Given the description of an element on the screen output the (x, y) to click on. 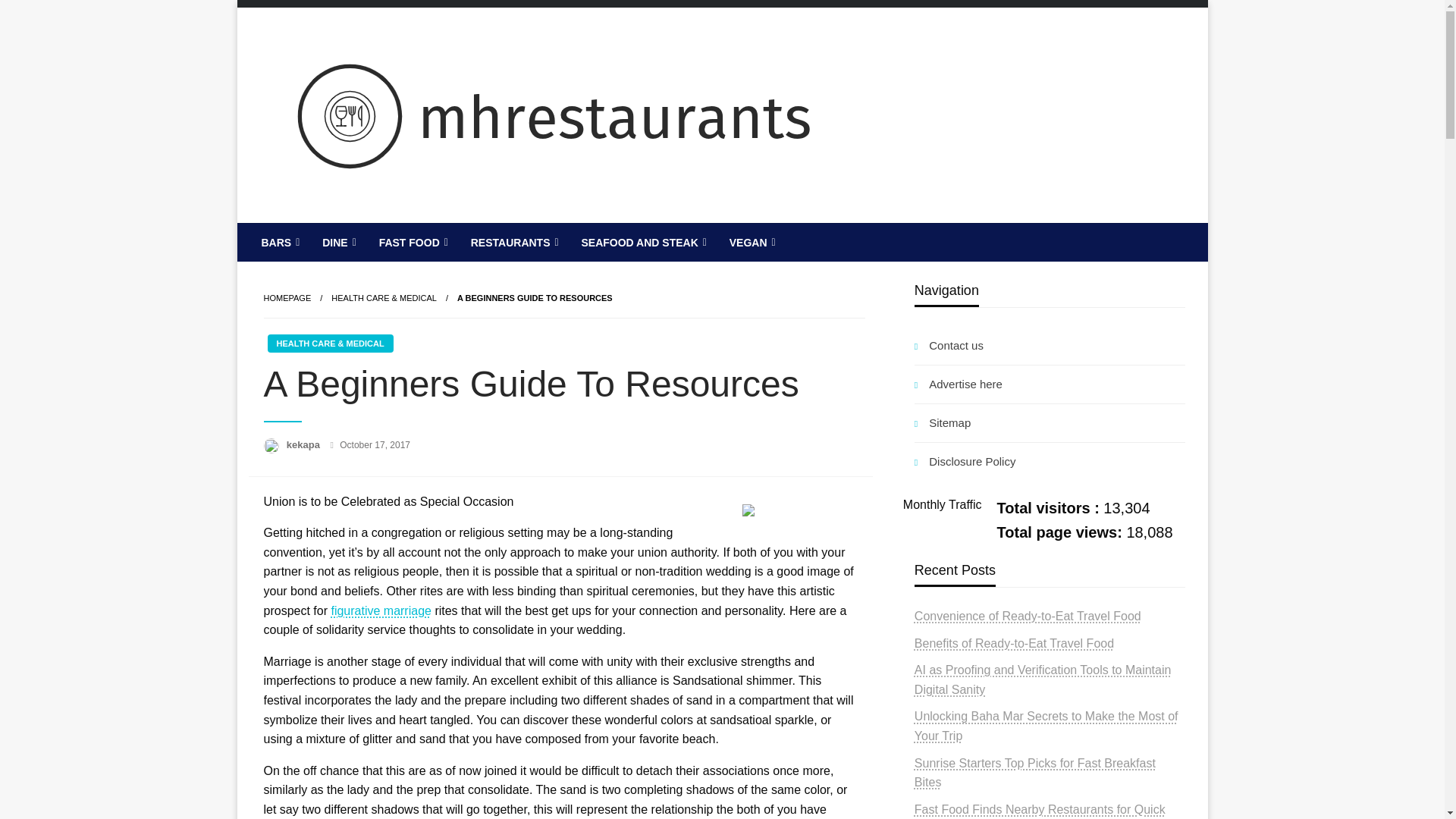
DINE (336, 242)
VEGAN (751, 242)
BARS (279, 242)
FAST FOOD (412, 242)
MHRESTAURANTS (398, 234)
RESTAURANTS (513, 242)
Homepage (287, 297)
A Beginners Guide To Resources (534, 297)
SEAFOOD AND STEAK (642, 242)
